Given the description of an element on the screen output the (x, y) to click on. 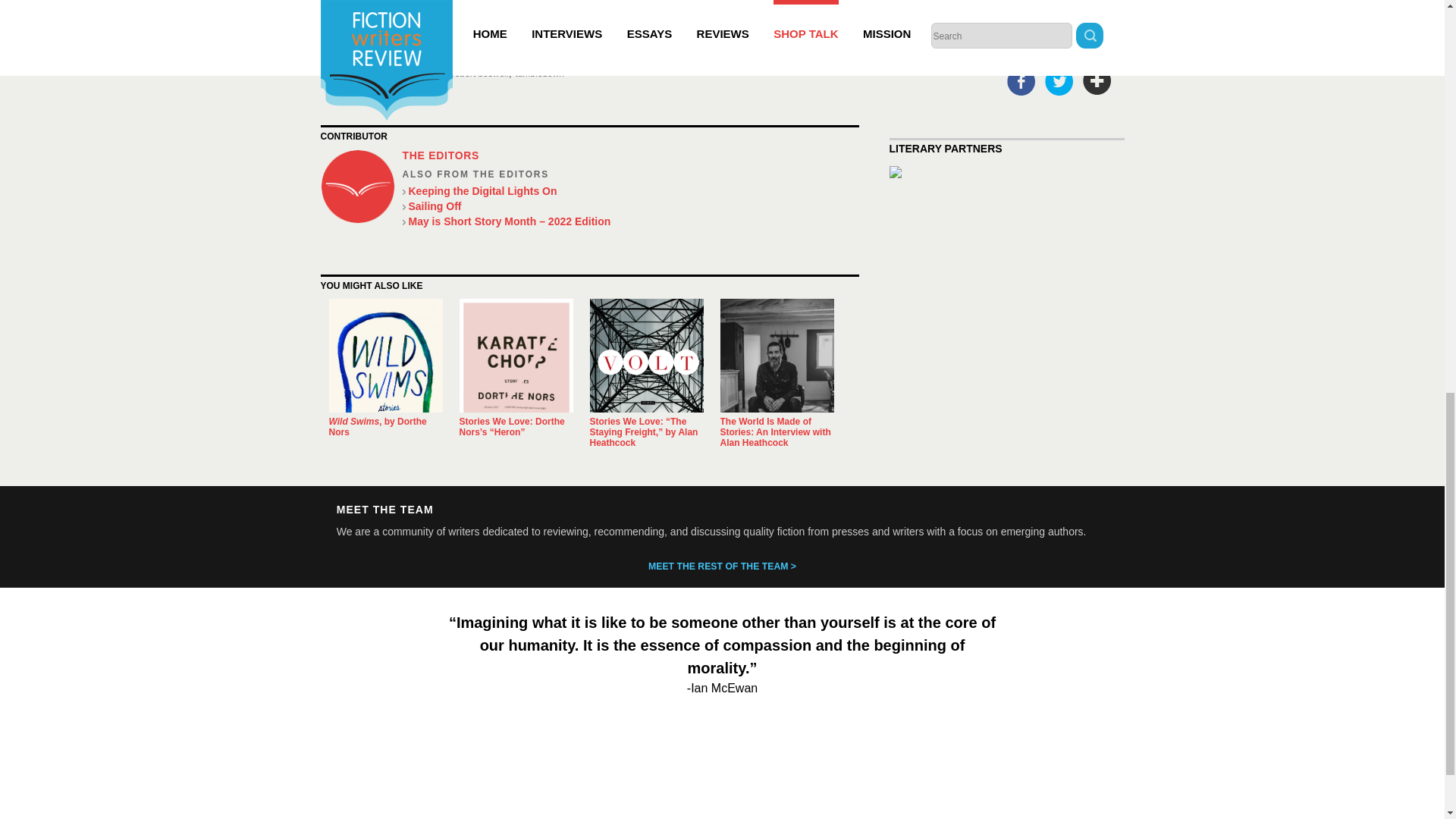
Keeping the Digital Lights On (630, 191)
review (521, 5)
Save (1097, 80)
THE EDITORS (440, 155)
Wild Swims, by Dorthe Nors (385, 355)
robert boswell (479, 72)
Share on Facebook (1021, 80)
graywolf (427, 72)
Wild Swims, by Dorthe Nors (377, 426)
Wild Swims, by Dorthe Nors (377, 426)
tumbledown (539, 72)
Sailing Off (630, 206)
book of the week (369, 72)
